Given the description of an element on the screen output the (x, y) to click on. 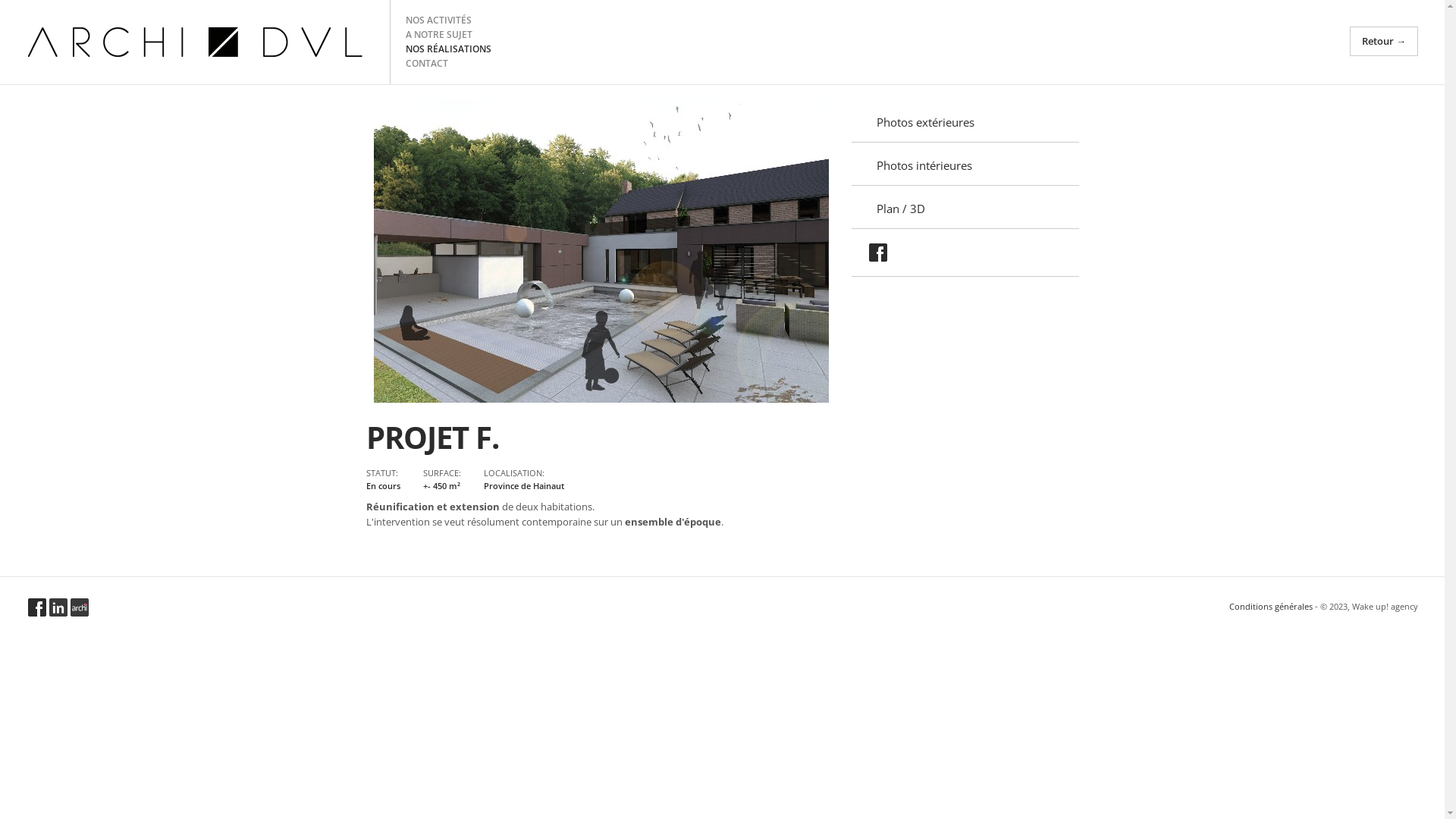
CONTACT Element type: text (426, 62)
Visiter notre page Linkedin Element type: text (58, 607)
Visiter notre page facebook Element type: text (37, 607)
Visiter notre page Archi lover Element type: text (79, 607)
En cours Element type: text (382, 484)
Archi DVL Element type: text (194, 41)
A NOTRE SUJET Element type: text (438, 34)
Province de Hainaut Element type: text (523, 484)
Plan / 3D Element type: text (964, 207)
